Given the description of an element on the screen output the (x, y) to click on. 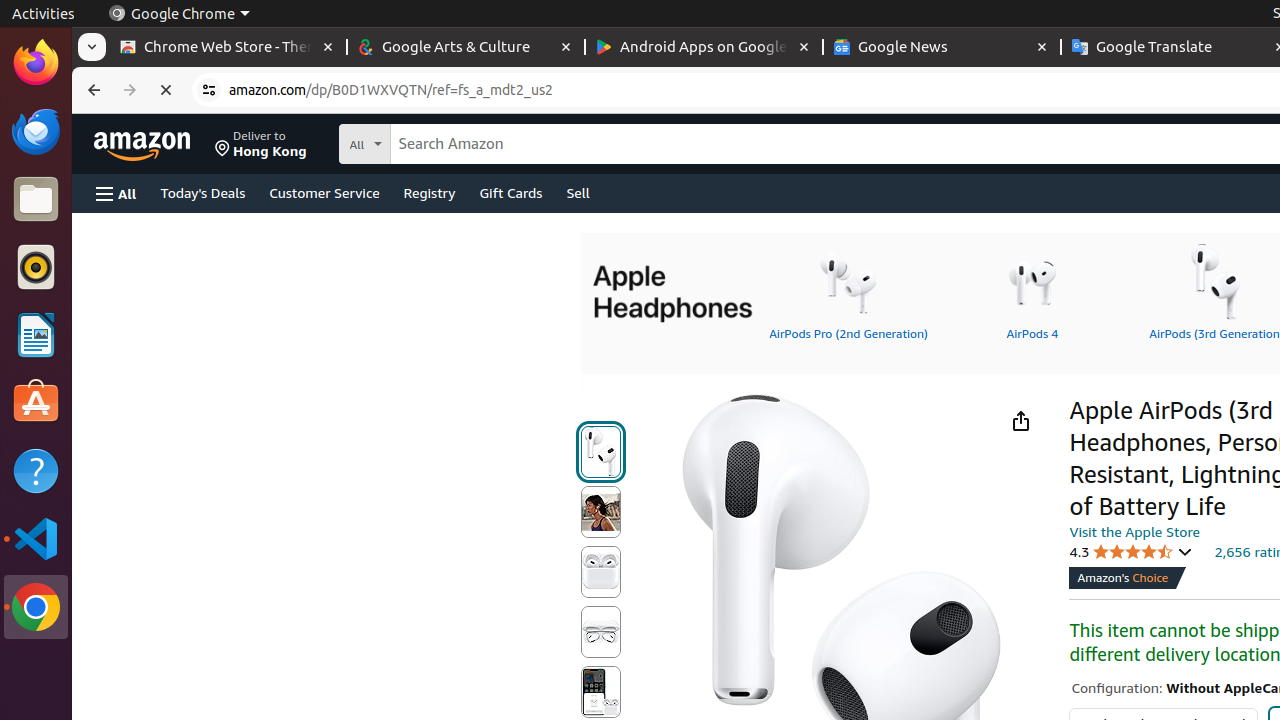
Google News - Memory usage - 49.2 MB Element type: page-tab (942, 47)
Google Arts & Culture - Memory usage - 57.6 MB Element type: page-tab (466, 47)
Customer Service Element type: link (324, 192)
Skip to main content Element type: link (154, 142)
Share Element type: push-button (1020, 420)
